Given the description of an element on the screen output the (x, y) to click on. 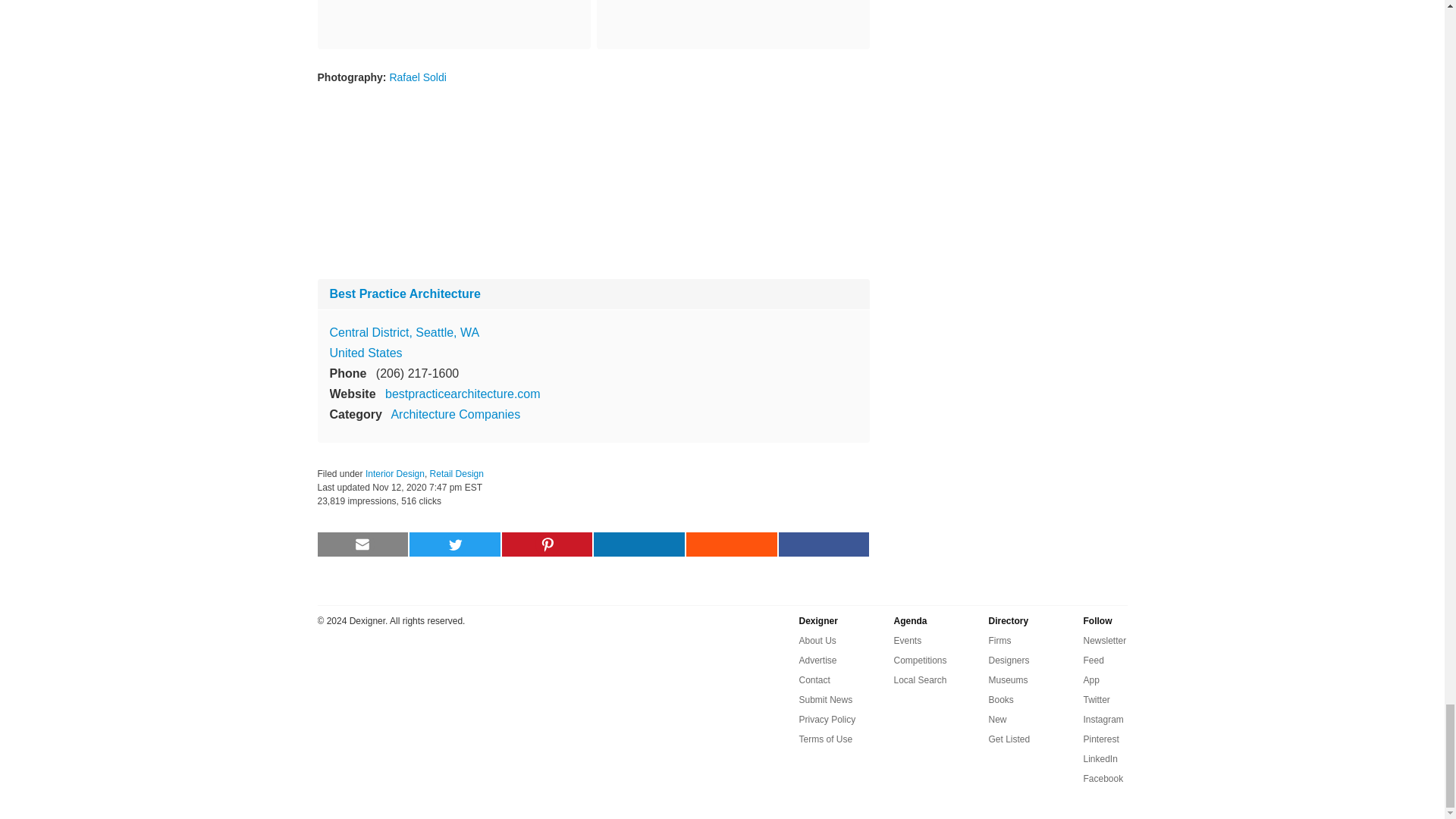
Get Listed (1009, 739)
Interior Design (395, 473)
United States (365, 352)
Contact (814, 679)
Central District, Seattle, WA (404, 332)
Retail Design (456, 473)
View on Map (404, 332)
Firms (999, 640)
About Us (817, 640)
Privacy Policy (827, 719)
Terms of Use (826, 739)
Local Search (919, 679)
Museums (1007, 679)
Designers (1008, 660)
Rafael Soldi (417, 77)
